Given the description of an element on the screen output the (x, y) to click on. 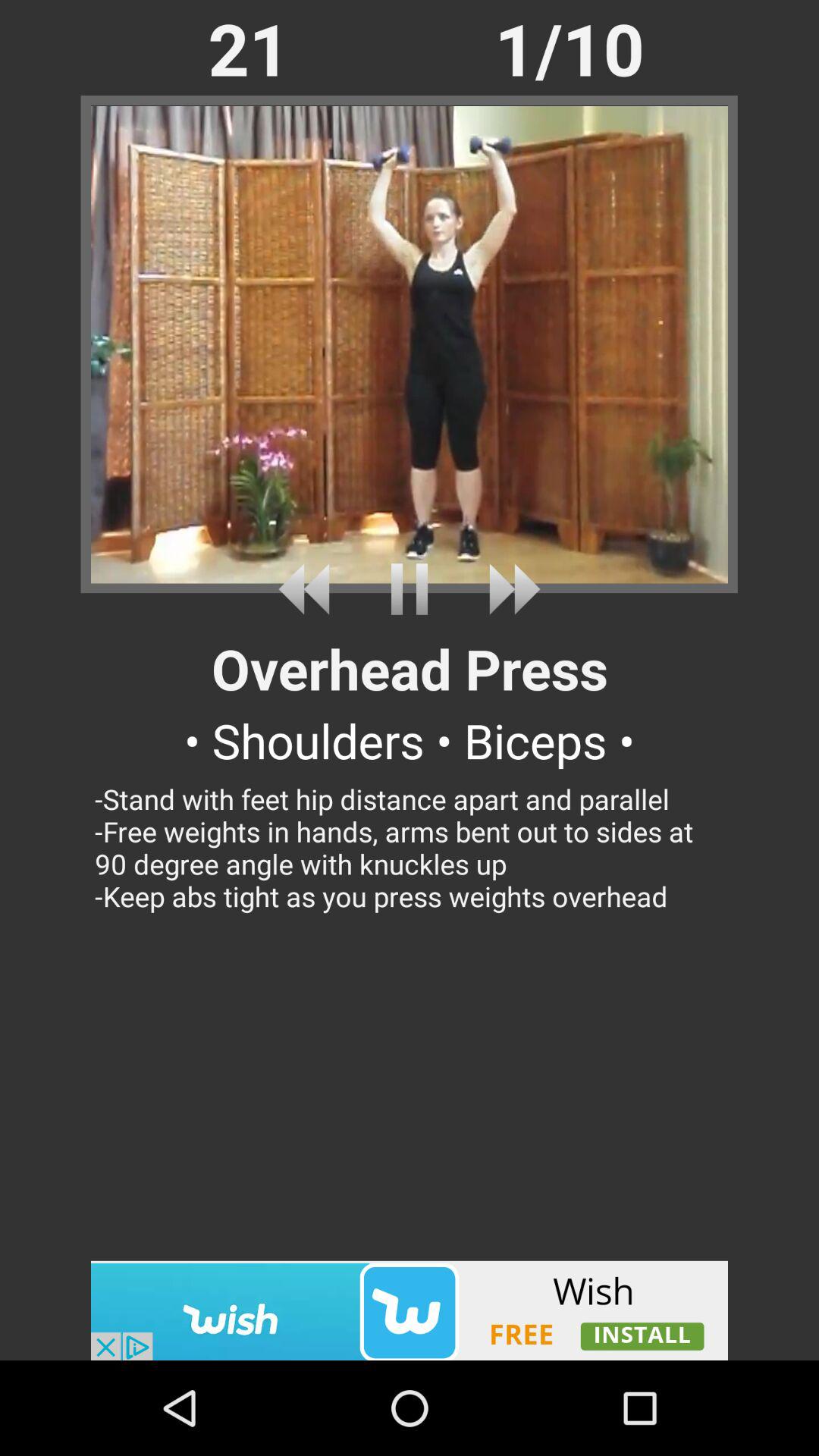
go back (309, 589)
